Given the description of an element on the screen output the (x, y) to click on. 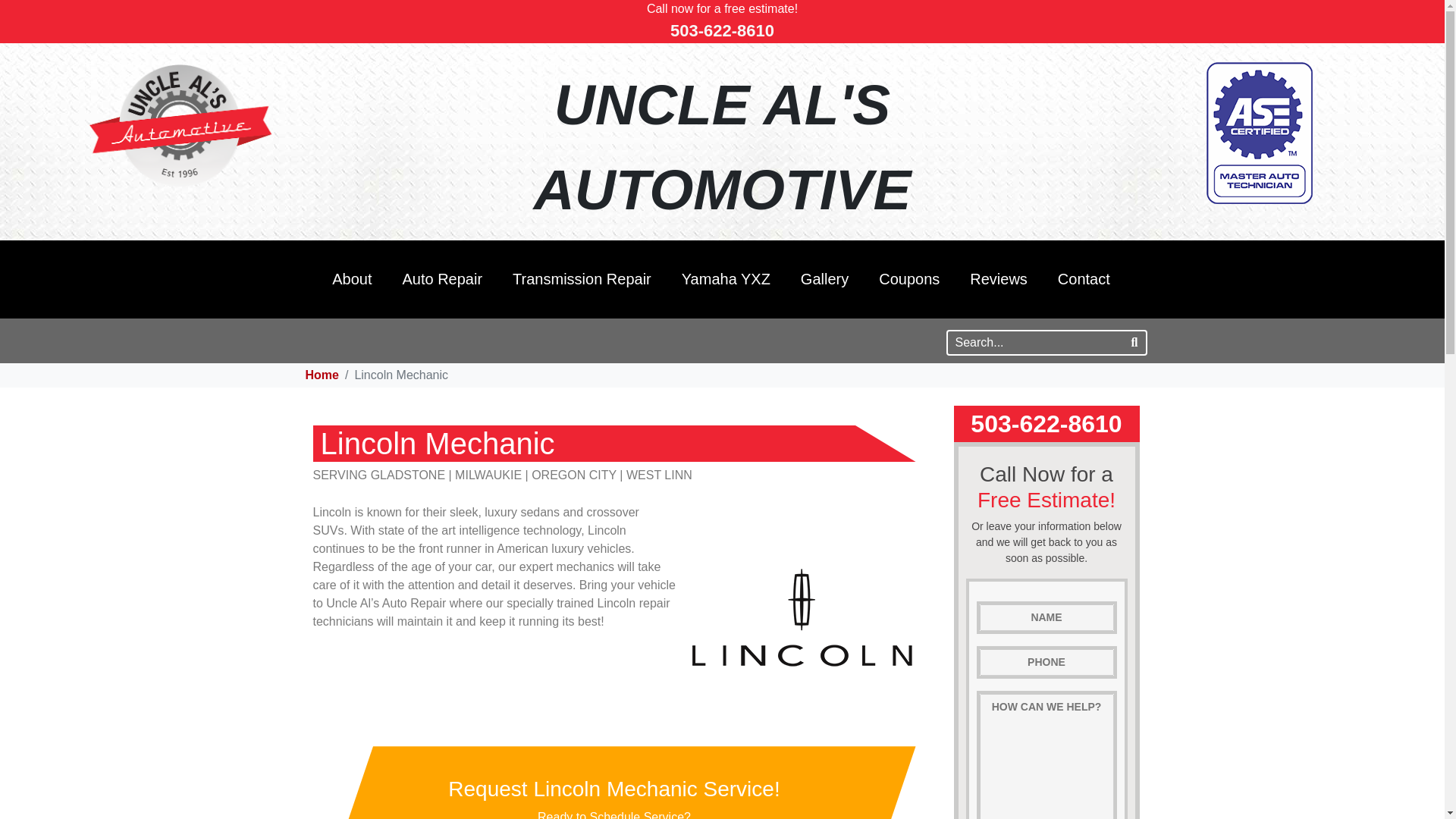
503-622-8610 (1046, 423)
Home (320, 374)
Contact (1083, 278)
Coupons (909, 278)
Transmission Repair (581, 278)
About (352, 278)
Auto Repair (442, 278)
Yamaha YXZ (726, 278)
Gallery (824, 278)
Reviews (998, 278)
503-622-8610 (722, 30)
